Given the description of an element on the screen output the (x, y) to click on. 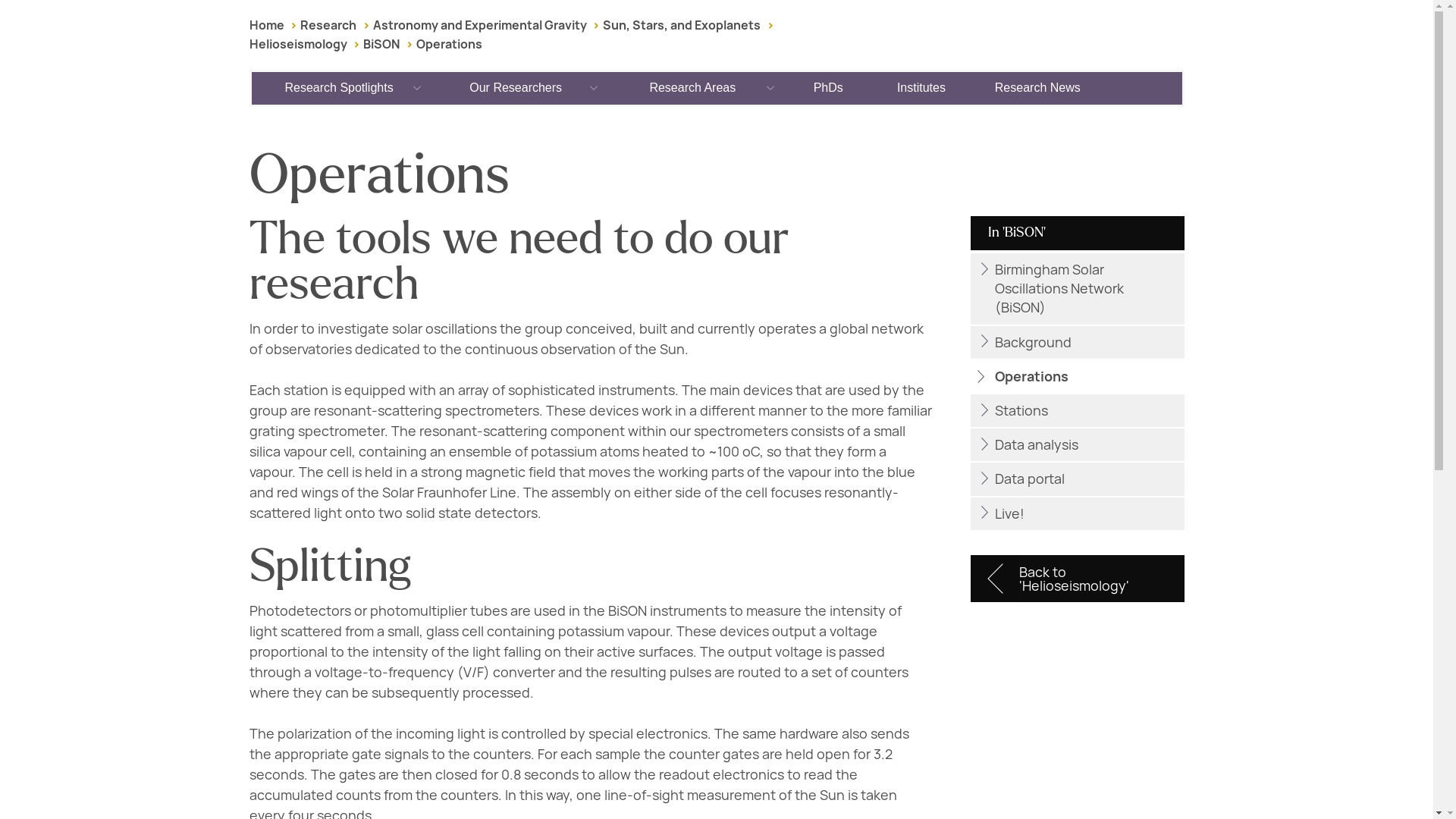
Astronomy and Experimental Gravity (479, 25)
Operations (448, 44)
BiSON (380, 44)
Research Spotlights (339, 88)
Helioseismology (297, 44)
Research Areas (693, 88)
Research (327, 25)
Our Researchers (516, 88)
Sun, Stars, and Exoplanets (681, 25)
Home (265, 25)
